Given the description of an element on the screen output the (x, y) to click on. 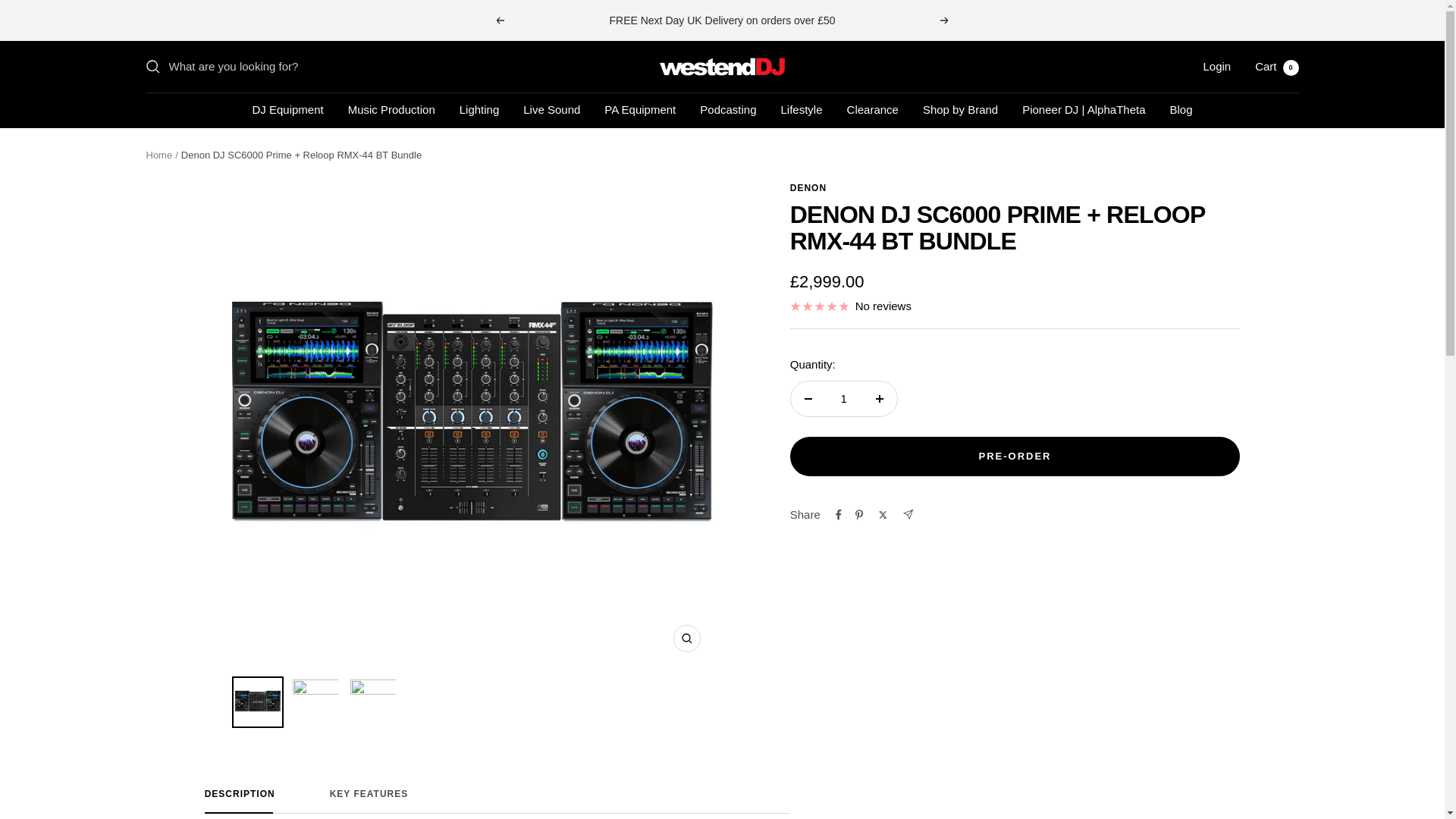
Podcasting (727, 109)
Lifestyle (801, 109)
PA Equipment (497, 801)
Blog (639, 109)
Previous (1180, 109)
Login (499, 20)
Next (1216, 65)
Westend DJ (944, 20)
Live Sound (721, 66)
Lighting (550, 109)
DJ Equipment (479, 109)
Clearance (287, 109)
